Given the description of an element on the screen output the (x, y) to click on. 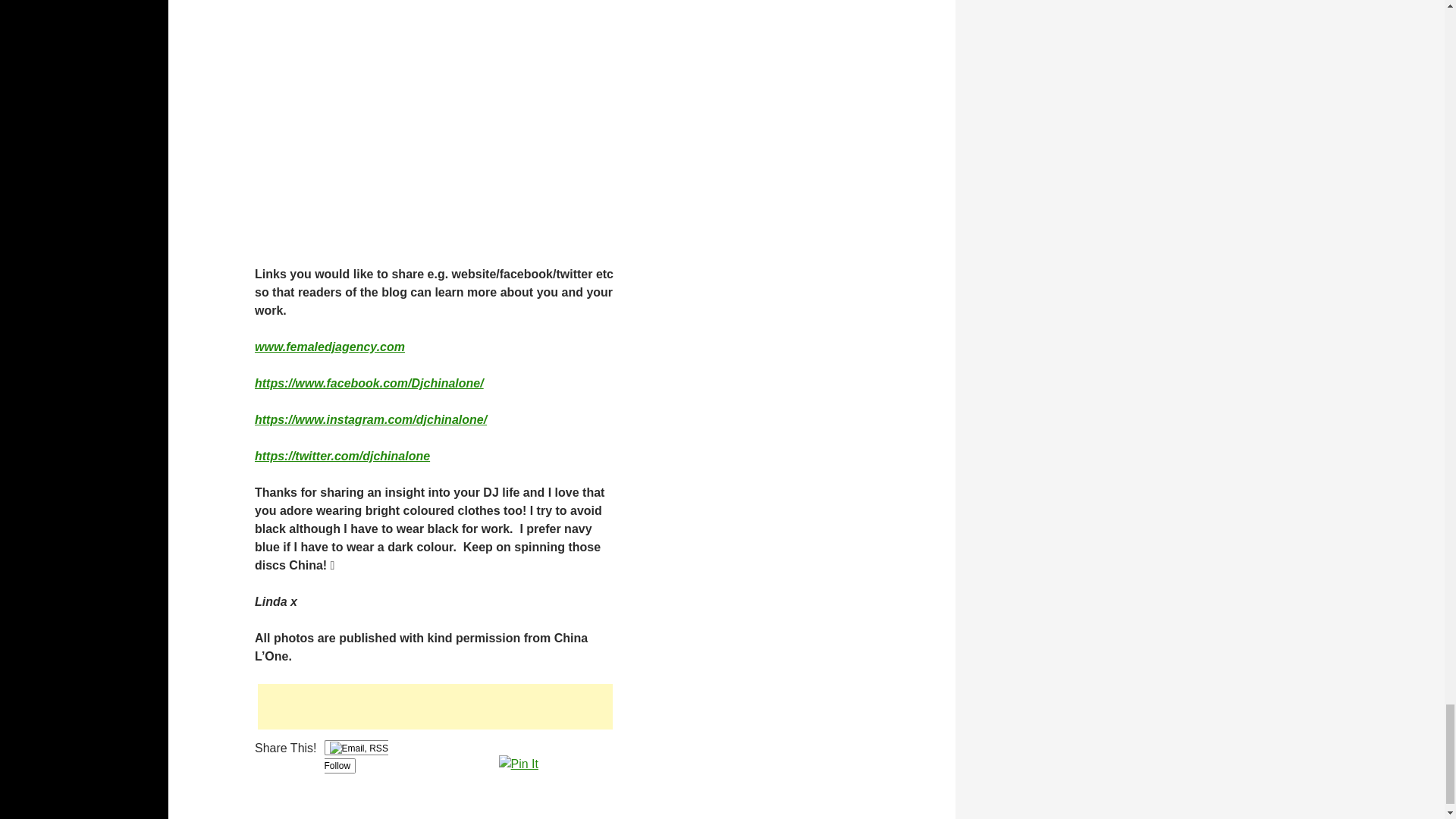
Follow (356, 756)
www.femaledjagency.com (329, 346)
Email, RSS (359, 748)
